Given the description of an element on the screen output the (x, y) to click on. 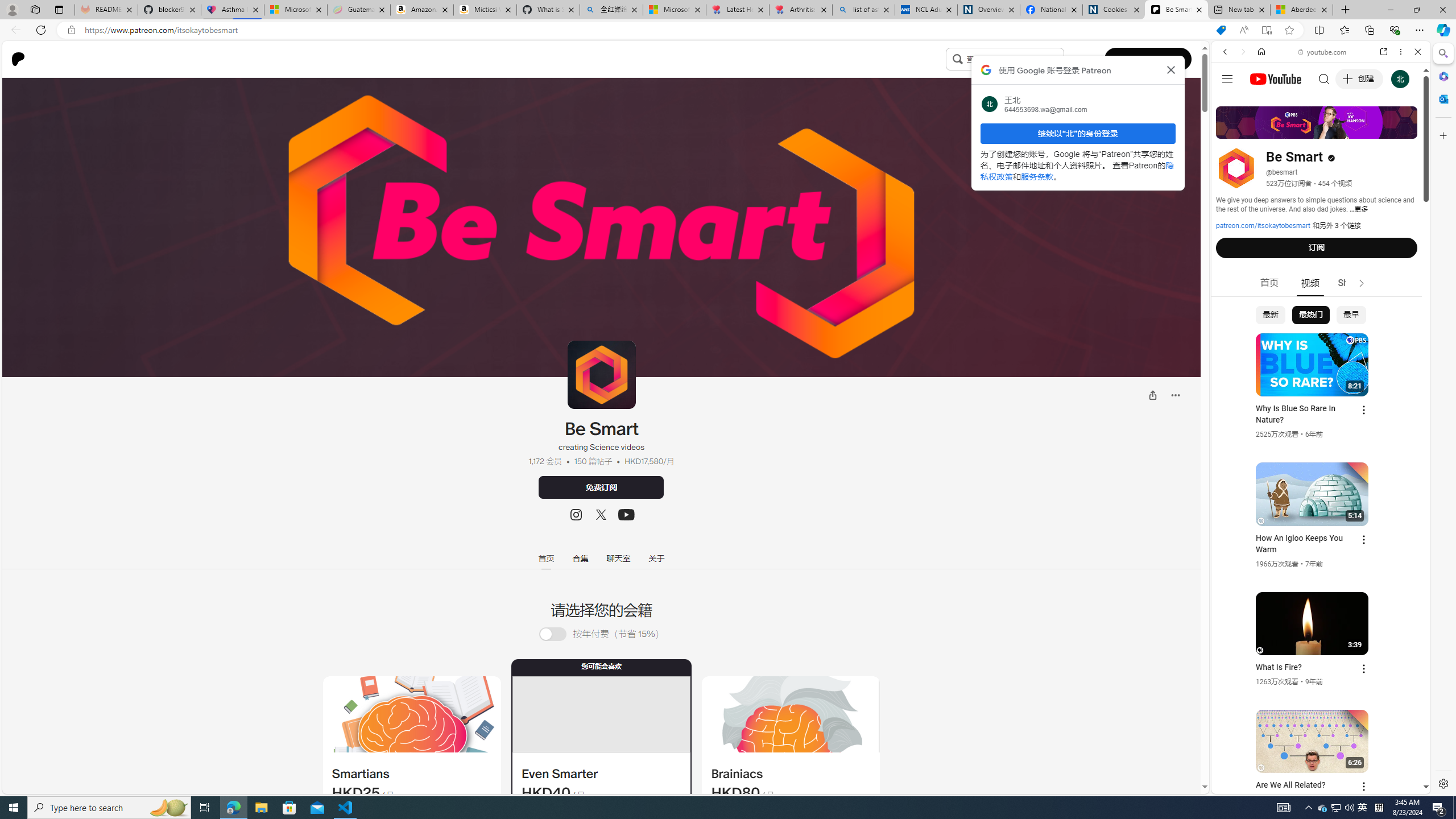
Search Filter, Search Tools (1350, 129)
you (1315, 755)
Class: sc-gUQvok bqiJlM (1061, 58)
Loading (558, 633)
NCL Adult Asthma Inhaler Choice Guideline (925, 9)
Patreon logo (17, 59)
